Given the description of an element on the screen output the (x, y) to click on. 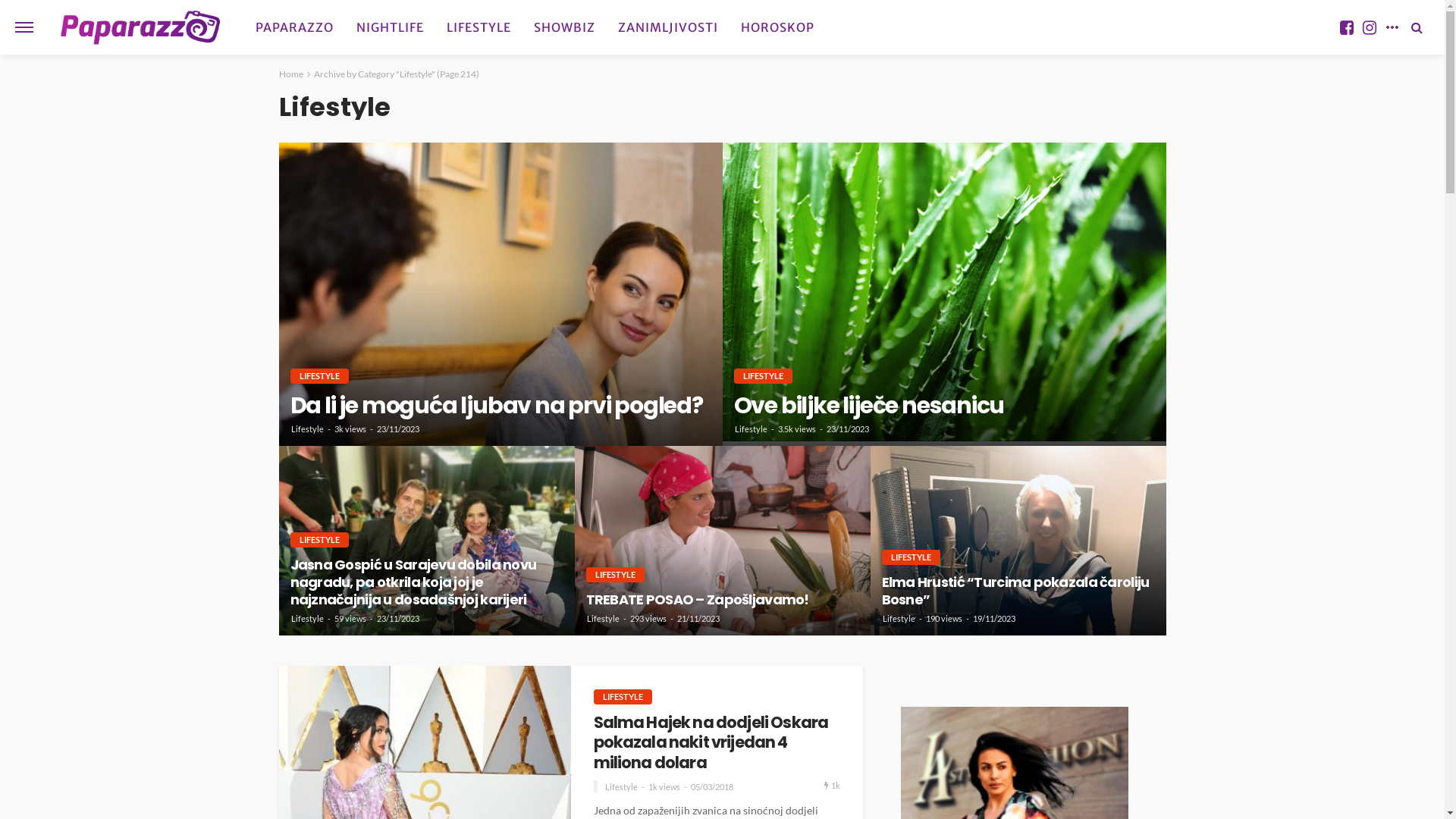
190 views Element type: text (943, 618)
HOROSKOP Element type: text (777, 27)
ZANIMLJIVOSTI Element type: text (667, 27)
LIFESTYLE Element type: text (318, 375)
Lifestyle Element type: text (750, 428)
LIFESTYLE Element type: text (763, 375)
PAPARAZZO Element type: text (294, 27)
Lifestyle Element type: text (621, 786)
Home Element type: text (291, 73)
Lifestyle Element type: text (898, 618)
off canvas button Element type: hover (24, 27)
1k views Element type: text (663, 786)
Paparazzo.ba Element type: hover (140, 27)
LIFESTYLE Element type: text (910, 556)
Lifestyle Element type: text (307, 428)
LIFESTYLE Element type: text (614, 574)
SHOWBIZ Element type: text (564, 27)
Lifestyle Element type: text (307, 618)
NIGHTLIFE Element type: text (390, 27)
3k views Element type: text (349, 428)
3.5k views Element type: text (796, 428)
Search Element type: hover (1416, 27)
LIFESTYLE Element type: text (478, 27)
59 views Element type: text (349, 618)
LIFESTYLE Element type: text (318, 539)
LIFESTYLE Element type: text (622, 696)
Lifestyle Element type: text (602, 618)
293 views Element type: text (647, 618)
